Given the description of an element on the screen output the (x, y) to click on. 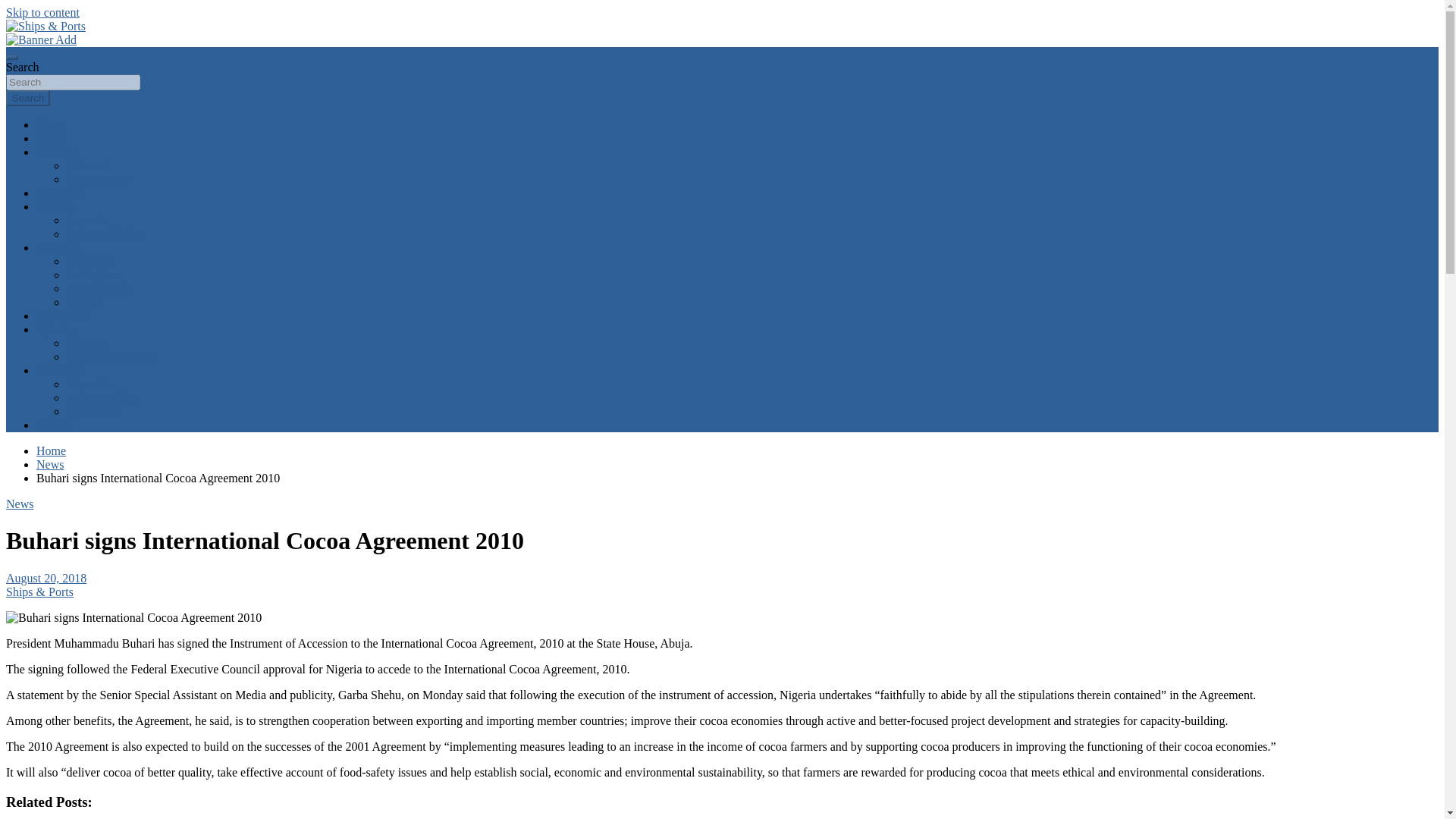
August 20, 2018 (45, 577)
Opinion (55, 328)
Commentary (98, 178)
Top quotes (62, 315)
Interview (59, 192)
Editorial (87, 164)
About Us (89, 383)
Buhari signs International Cocoa Agreement 2010 (45, 577)
Others (82, 301)
News (50, 137)
